Given the description of an element on the screen output the (x, y) to click on. 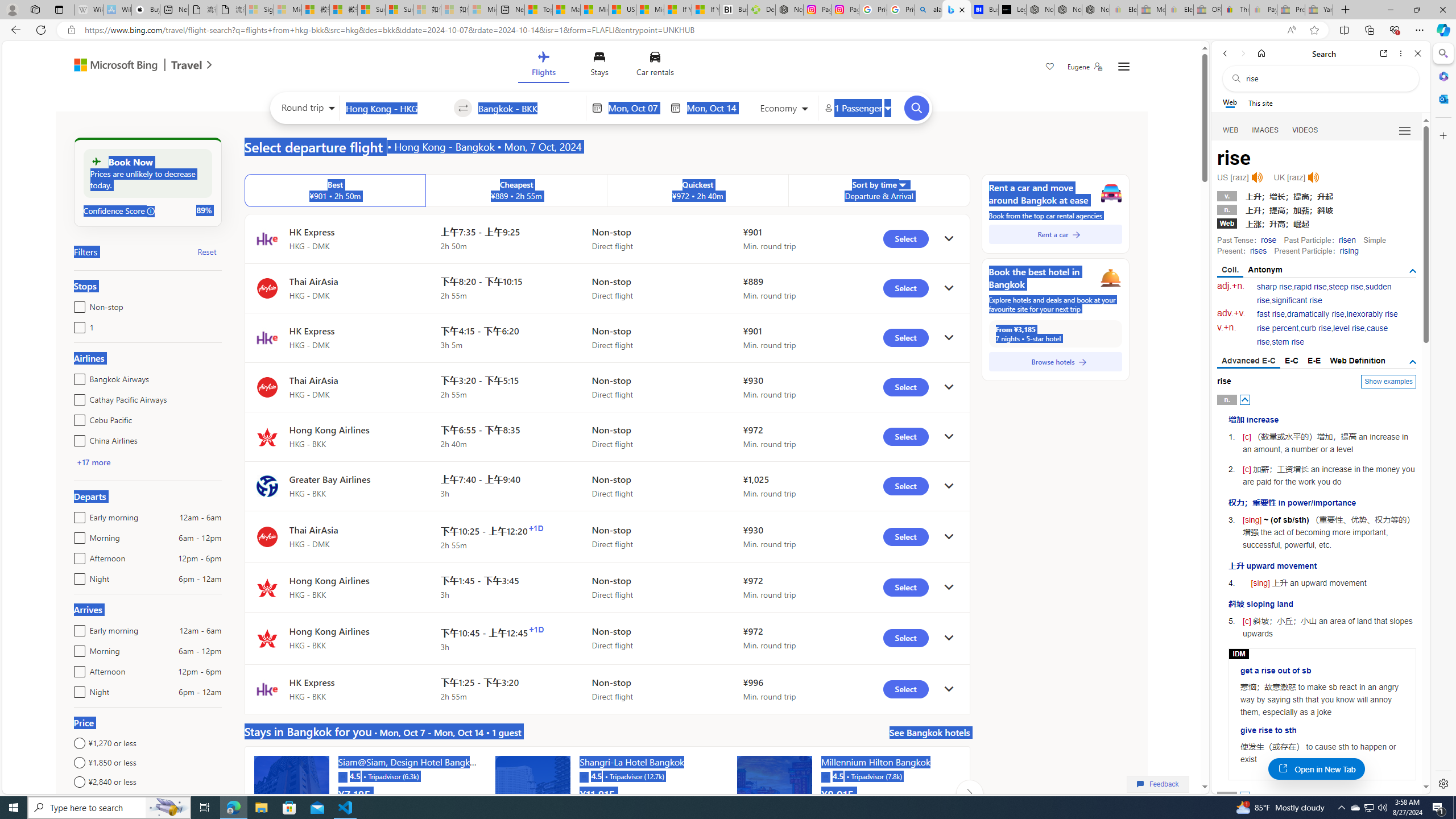
IMAGES (1265, 130)
Top Stories - MSN (538, 9)
Class: msft-travel-logo (186, 64)
Preferences (1403, 129)
Antonym (1265, 269)
1 (76, 325)
